Given the description of an element on the screen output the (x, y) to click on. 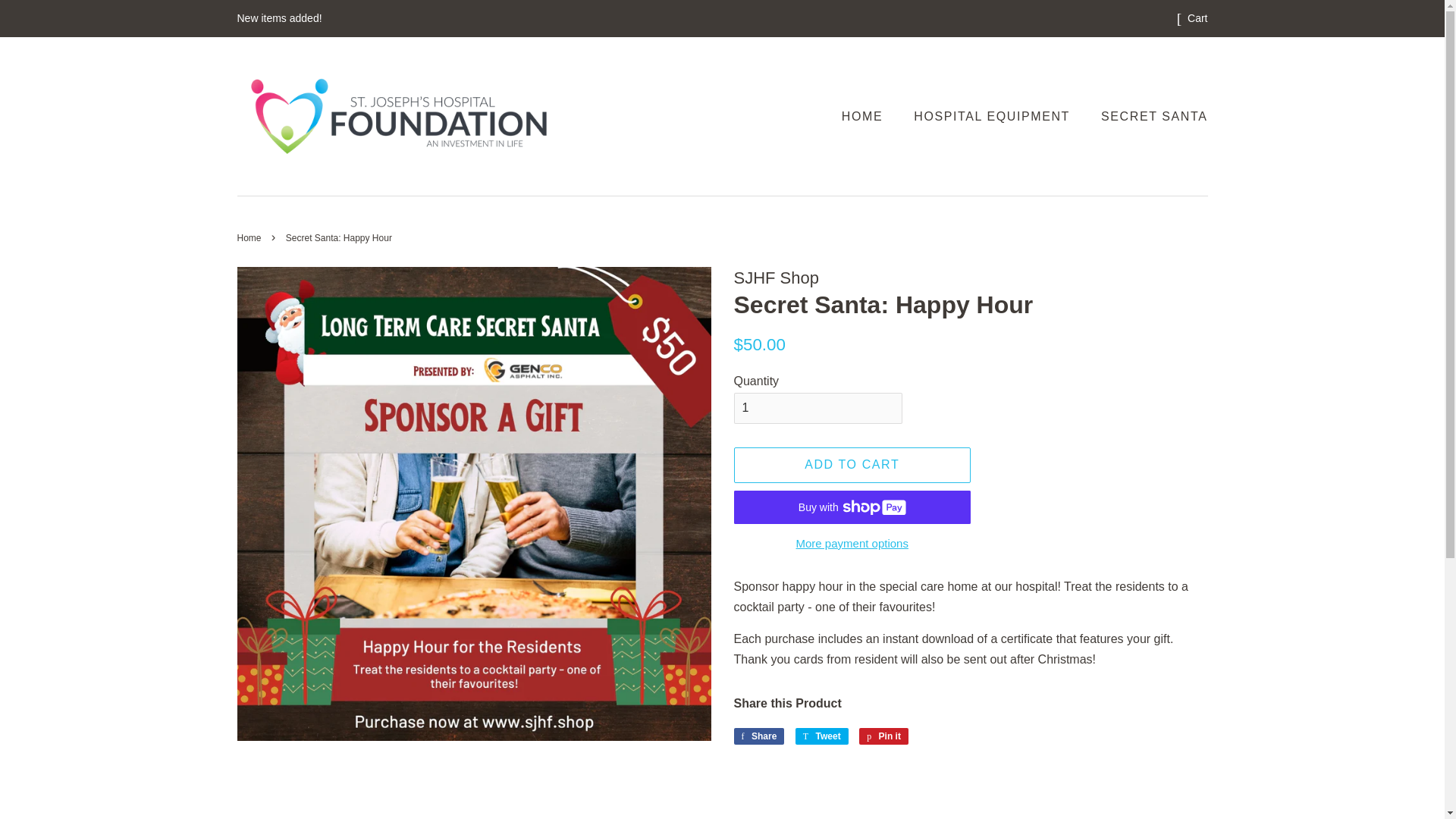
ADD TO CART (852, 465)
HOME (869, 115)
Home (758, 736)
Pin on Pinterest (249, 237)
More payment options (883, 736)
1 (852, 542)
Back to the frontpage (817, 408)
Tweet on Twitter (249, 237)
Share on Facebook (821, 736)
HOSPITAL EQUIPMENT (821, 736)
Cart (758, 736)
SECRET SANTA (883, 736)
